Given the description of an element on the screen output the (x, y) to click on. 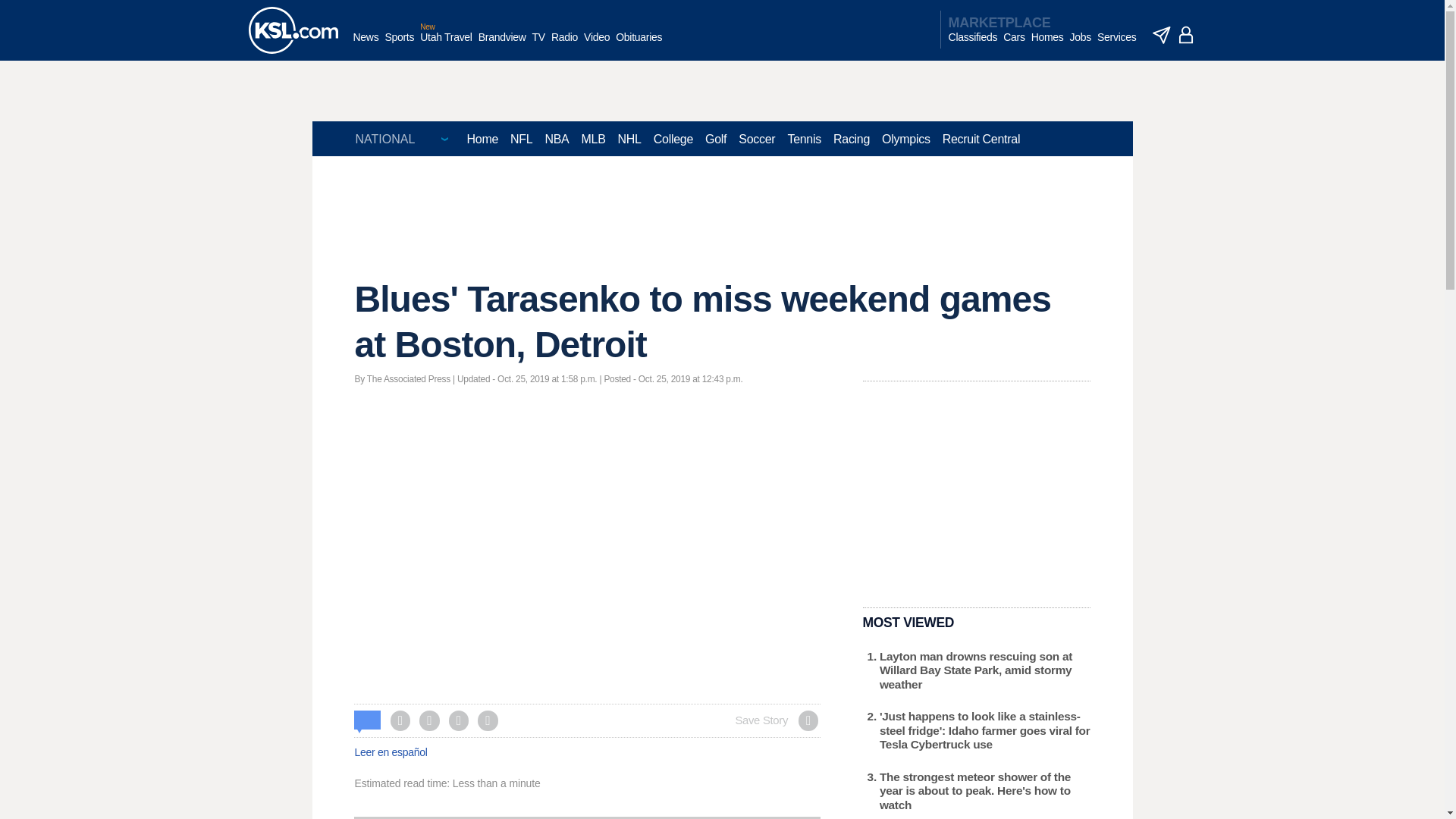
KSL homepage (292, 30)
account - logged out (1185, 34)
Utah Travel (445, 45)
Sports (398, 45)
KSL homepage (292, 29)
Brandview (502, 45)
